Given the description of an element on the screen output the (x, y) to click on. 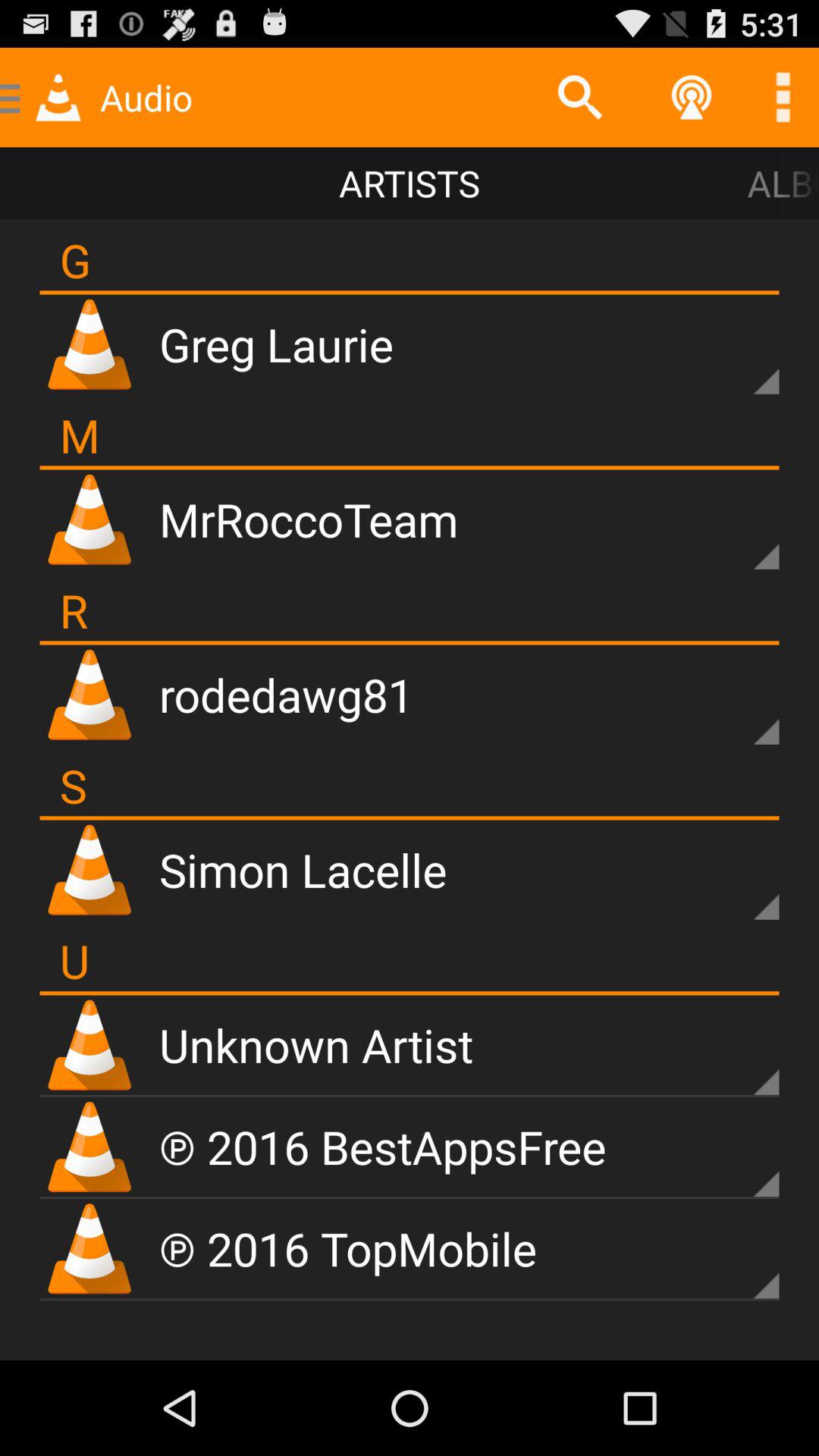
turn on the app above artists (579, 97)
